Given the description of an element on the screen output the (x, y) to click on. 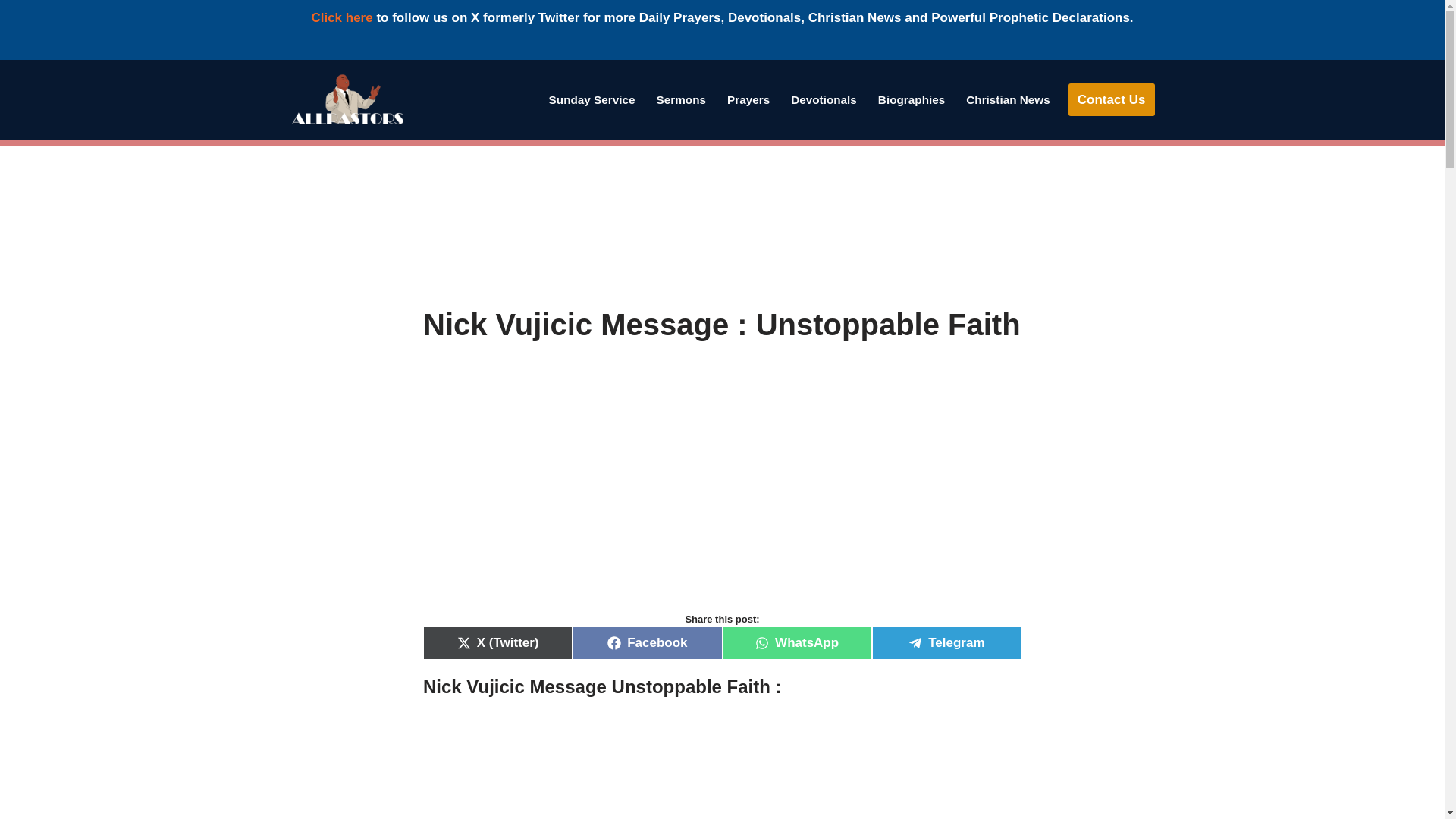
Advertisement (722, 492)
Devotionals (823, 99)
Facebook (647, 643)
WhatsApp (796, 643)
Christian News (1007, 99)
Biographies (910, 99)
Advertisement (722, 771)
Skip to content (11, 91)
Advertisement (722, 226)
SERMONS ONLINE (681, 99)
Telegram (947, 643)
Sermons (681, 99)
Sunday Service (591, 99)
Click here (341, 17)
Contact Us (1111, 99)
